Given the description of an element on the screen output the (x, y) to click on. 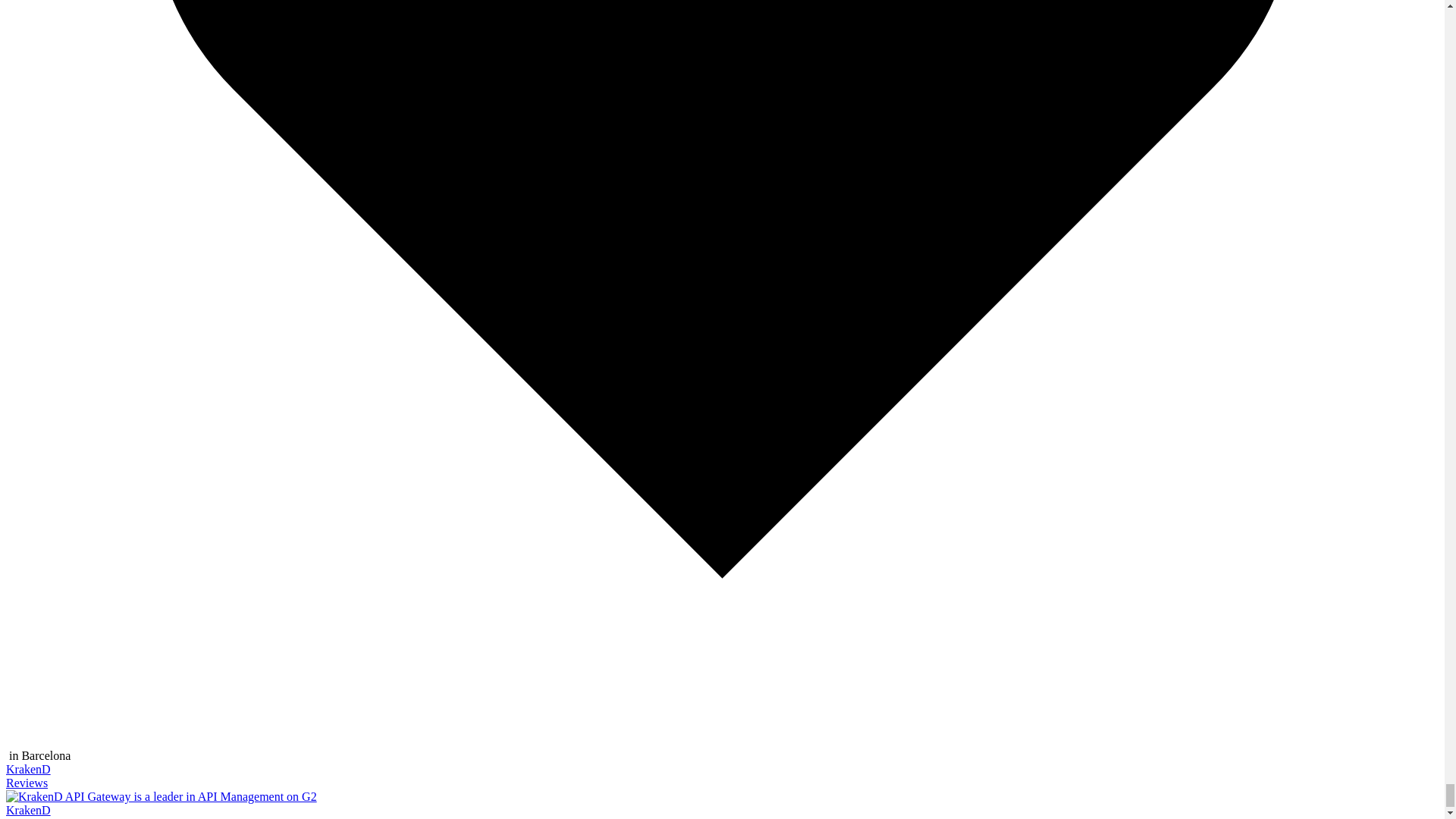
KrakenD API Gateway is a leader in API Management on G2 (161, 796)
